Given the description of an element on the screen output the (x, y) to click on. 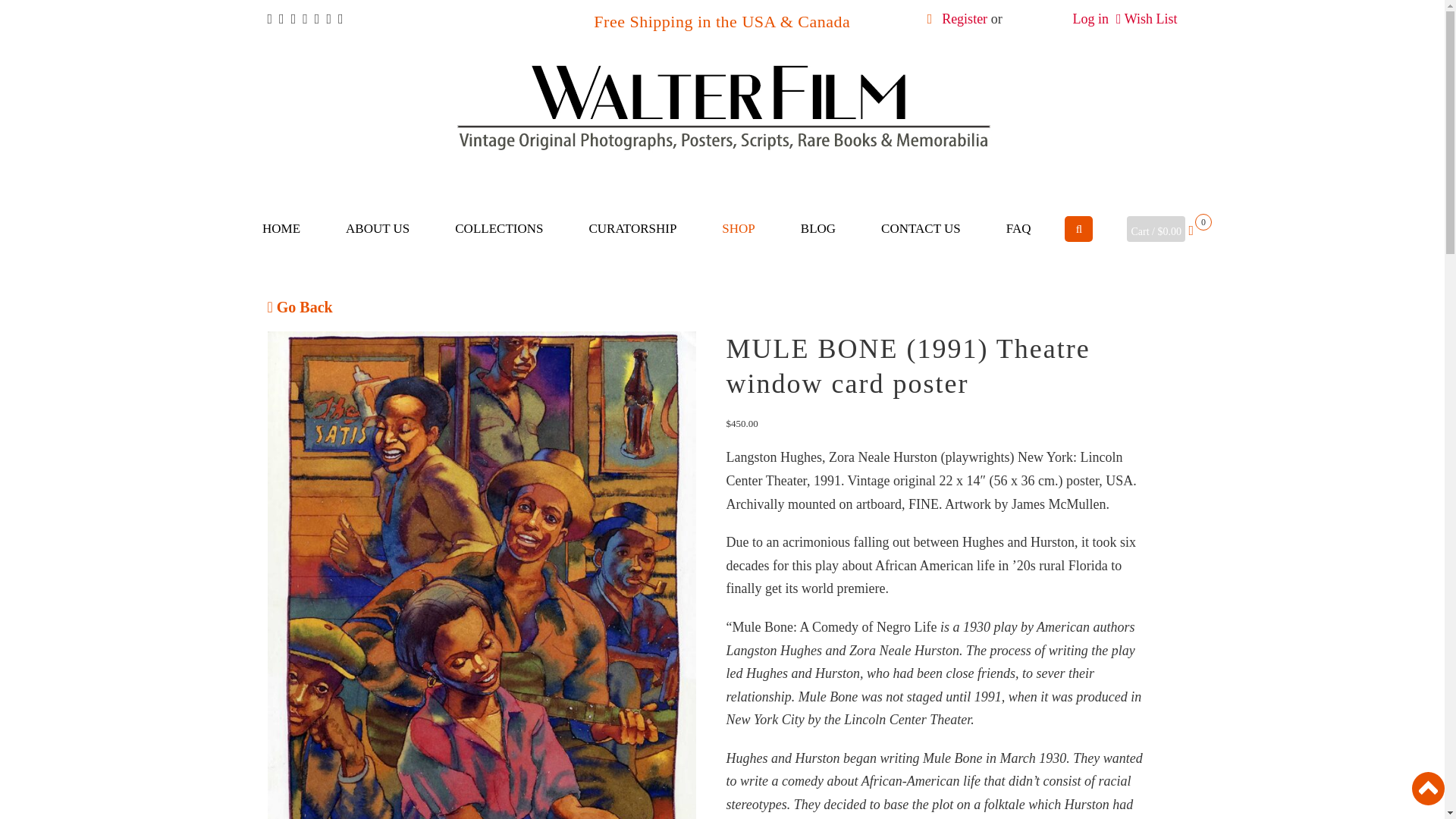
CONTACT US (920, 229)
Register (964, 18)
CURATORSHIP (631, 229)
Log in (1089, 18)
COLLECTIONS (499, 229)
Wish List (1150, 18)
ABOUT US (377, 229)
BLOG (818, 229)
SHOP (737, 229)
HOME (280, 229)
